Given the description of an element on the screen output the (x, y) to click on. 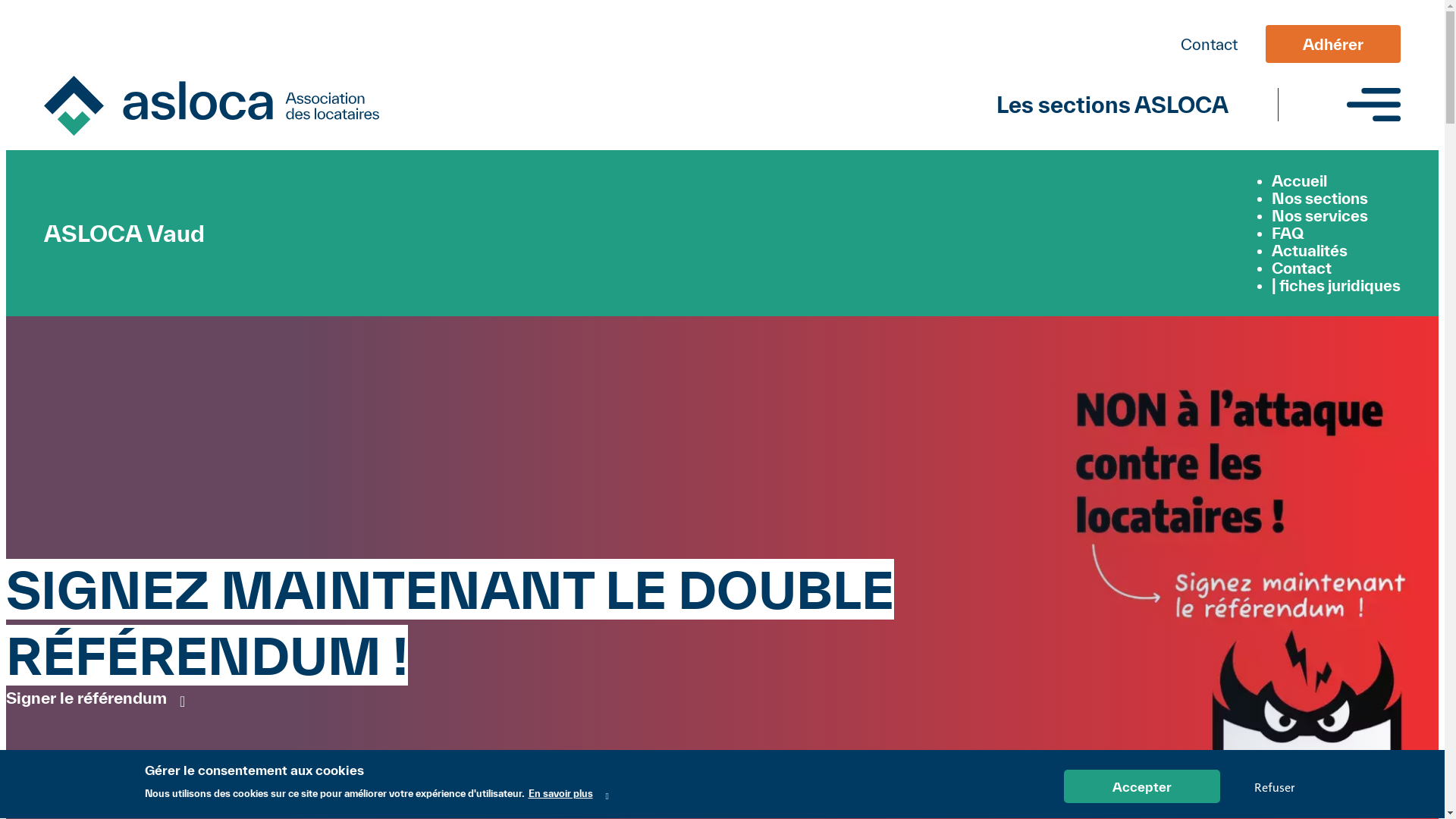
FAQ Element type: text (1287, 232)
En savoir plus Element type: text (567, 795)
Refuser Element type: text (1274, 786)
Les sections ASLOCA Element type: text (1112, 104)
Home Element type: hover (211, 106)
| fiches juridiques Element type: text (1335, 285)
Aller au contenu principal Element type: text (722, 7)
Accepter Element type: text (1141, 786)
Contact Element type: text (1301, 267)
Accueil Element type: text (1299, 180)
Contact Element type: text (1208, 43)
Nos services Element type: text (1319, 215)
Nos sections Element type: text (1319, 198)
